Given the description of an element on the screen output the (x, y) to click on. 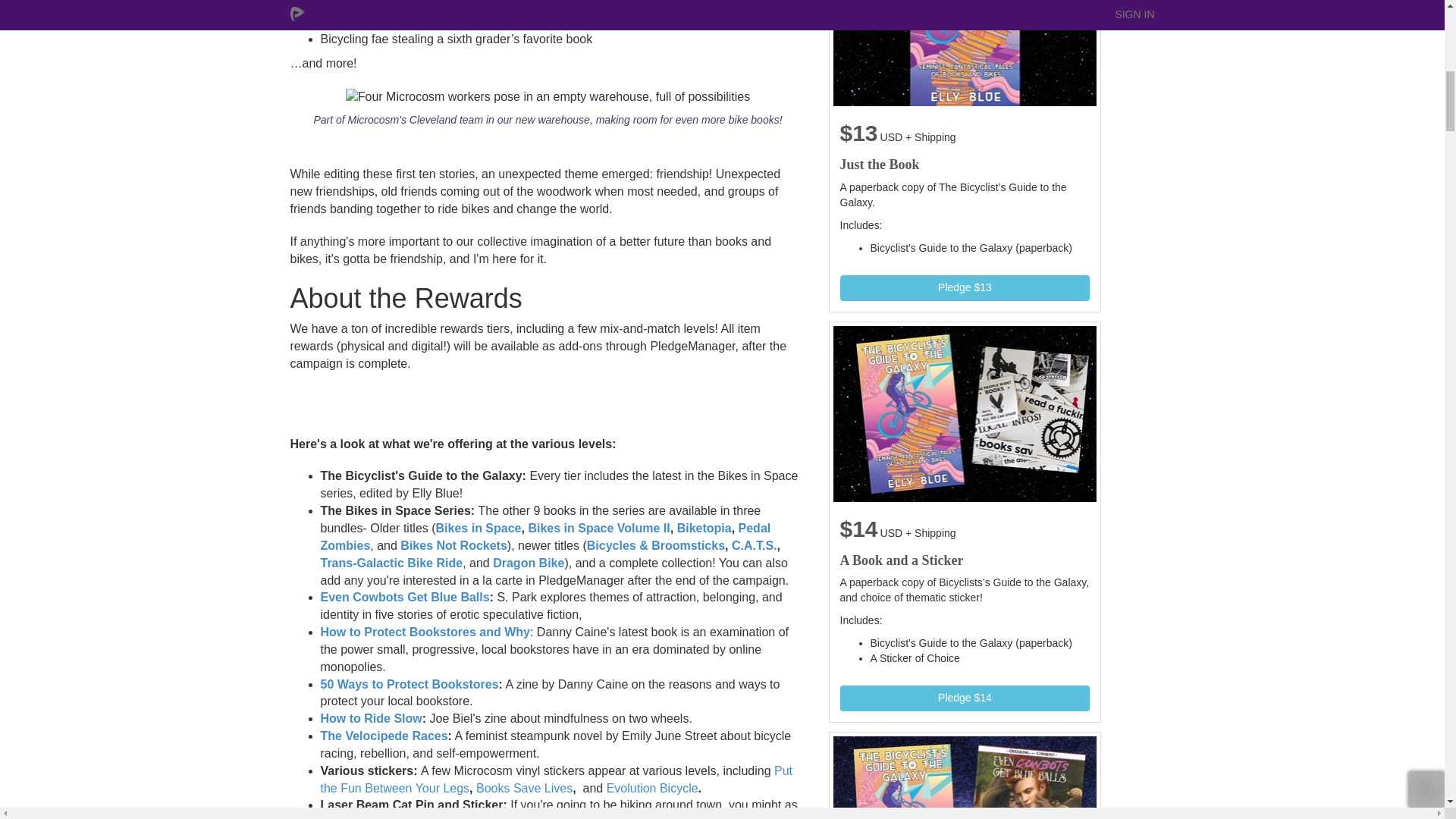
The Velocipede Races (383, 735)
How to Ride Slow (371, 717)
Pedal Zombies (545, 536)
How to Protect Bookstores and Why (424, 631)
50 Ways to Protect Bookstores (408, 684)
Bikes in Space (478, 527)
Trans-Galactic Bike Ride (391, 562)
Evolution Bicycle (652, 788)
Put the Fun Between Your Legs (556, 779)
C.A.T.S. (754, 545)
Bikes Not Rockets (453, 545)
Bikes in Space Volume II (598, 527)
Books Save Lives (524, 788)
Biketopia (704, 527)
Dragon Bike (528, 562)
